Given the description of an element on the screen output the (x, y) to click on. 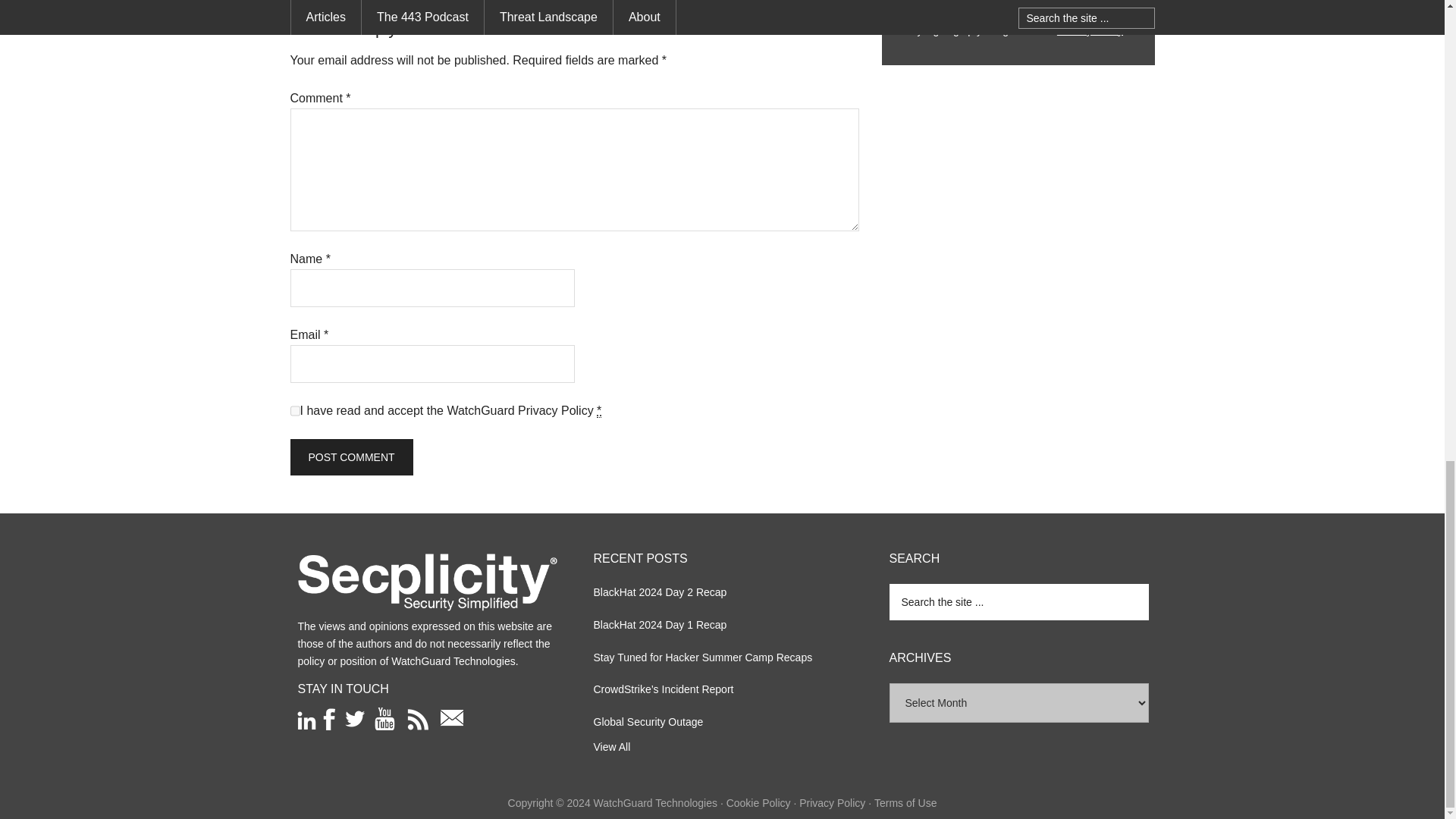
Privacy Policy (556, 410)
Privacy Policy (1089, 30)
Post Comment (350, 456)
Post Comment (350, 456)
Subscribe (1018, 2)
Subscribe (1018, 2)
